Given the description of an element on the screen output the (x, y) to click on. 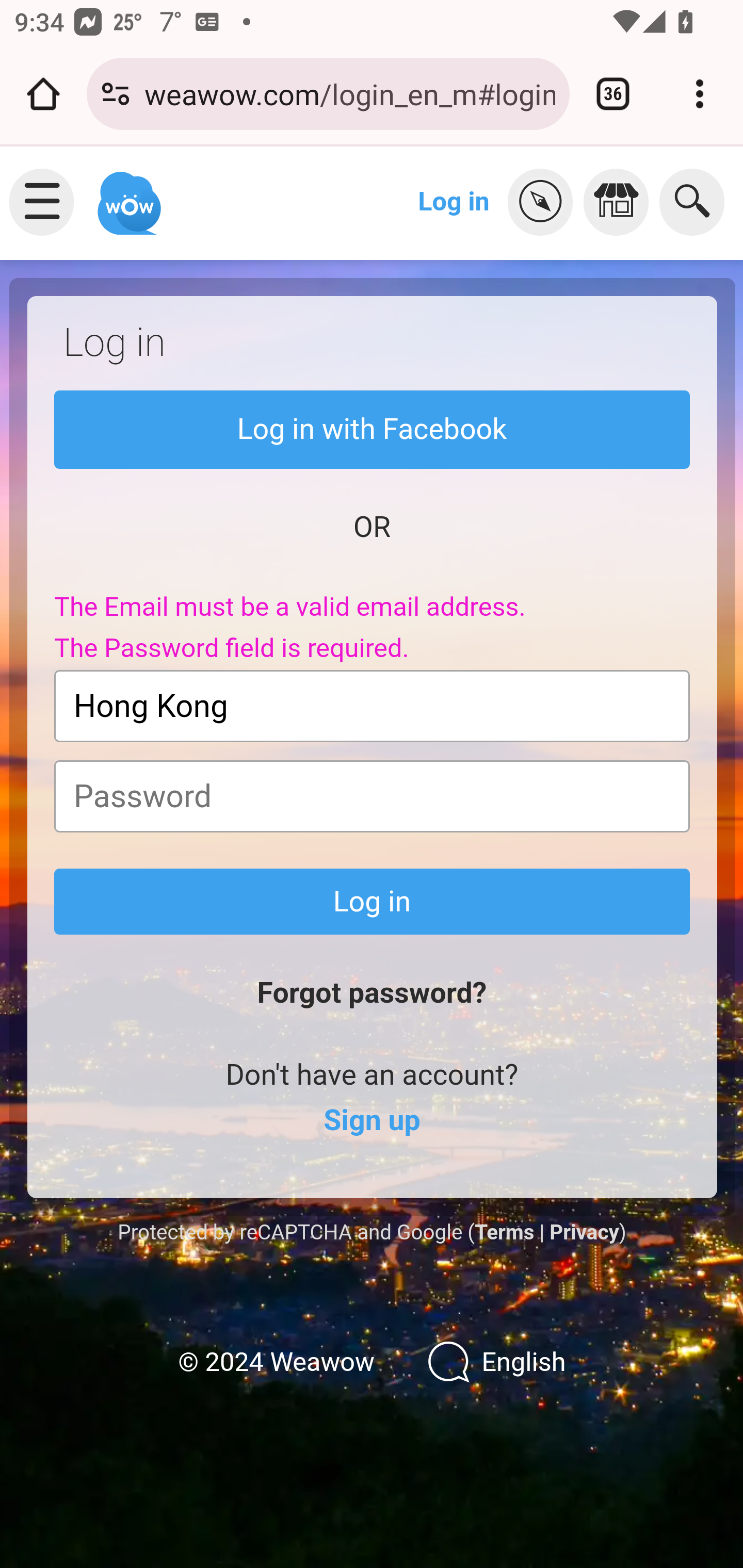
Open the home page (43, 93)
Connection is secure (115, 93)
Switch or close tabs (612, 93)
Customize and control Google Chrome (699, 93)
weawow.com/login_en_m#login (349, 92)
Weawow (127, 194)
 (545, 201)
 (621, 201)
Log in (453, 201)
Hong Kong (372, 706)
Log in (372, 902)
Forgot password? (371, 993)
Sign up (371, 1120)
Terms (503, 1231)
Privacy (583, 1231)
© 2024 Weawow (275, 1362)
